Given the description of an element on the screen output the (x, y) to click on. 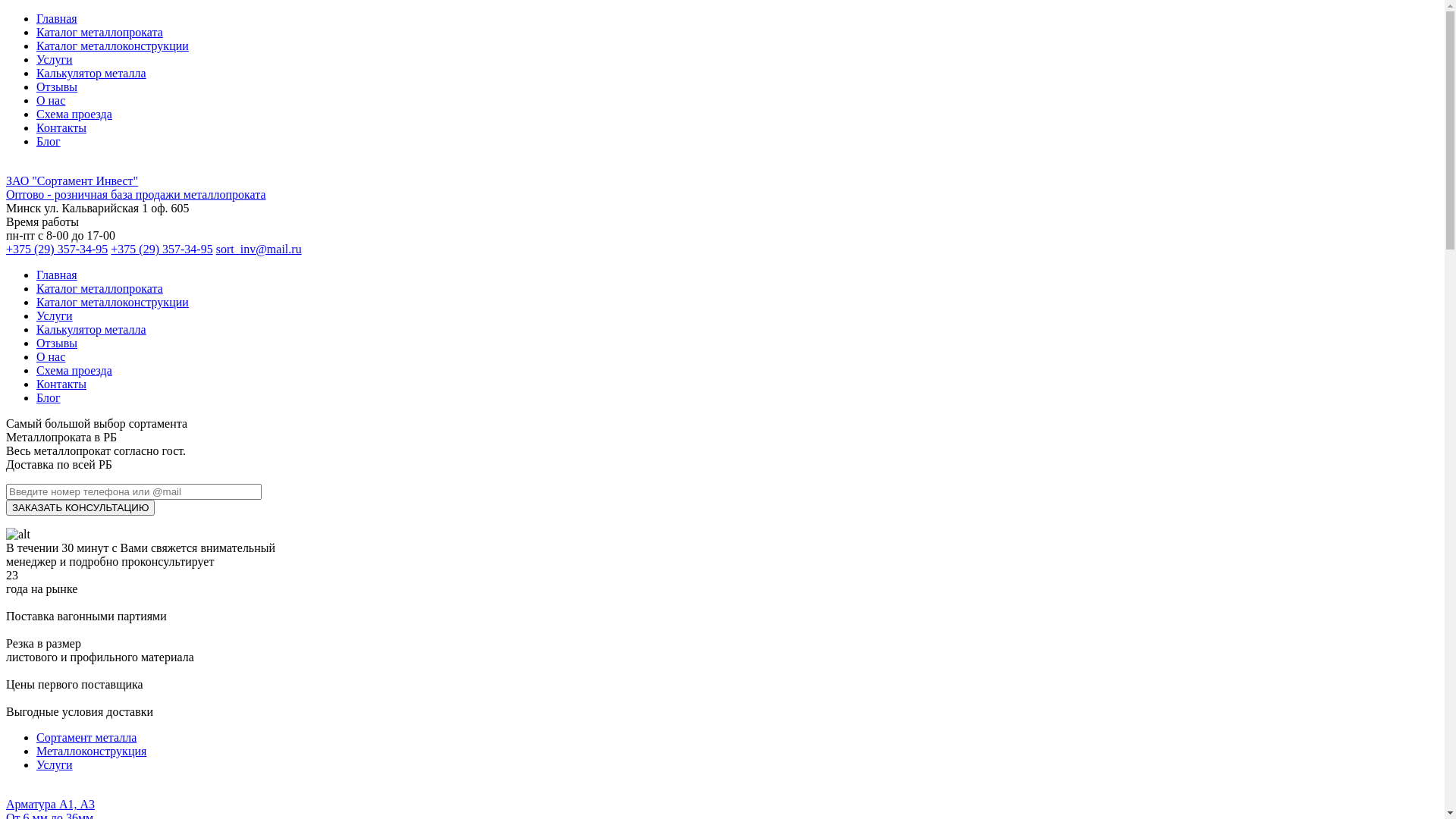
sort_inv@mail.ru Element type: text (258, 248)
+375 (29) 357-34-95 Element type: text (161, 248)
+375 (29) 357-34-95 Element type: text (56, 248)
